Given the description of an element on the screen output the (x, y) to click on. 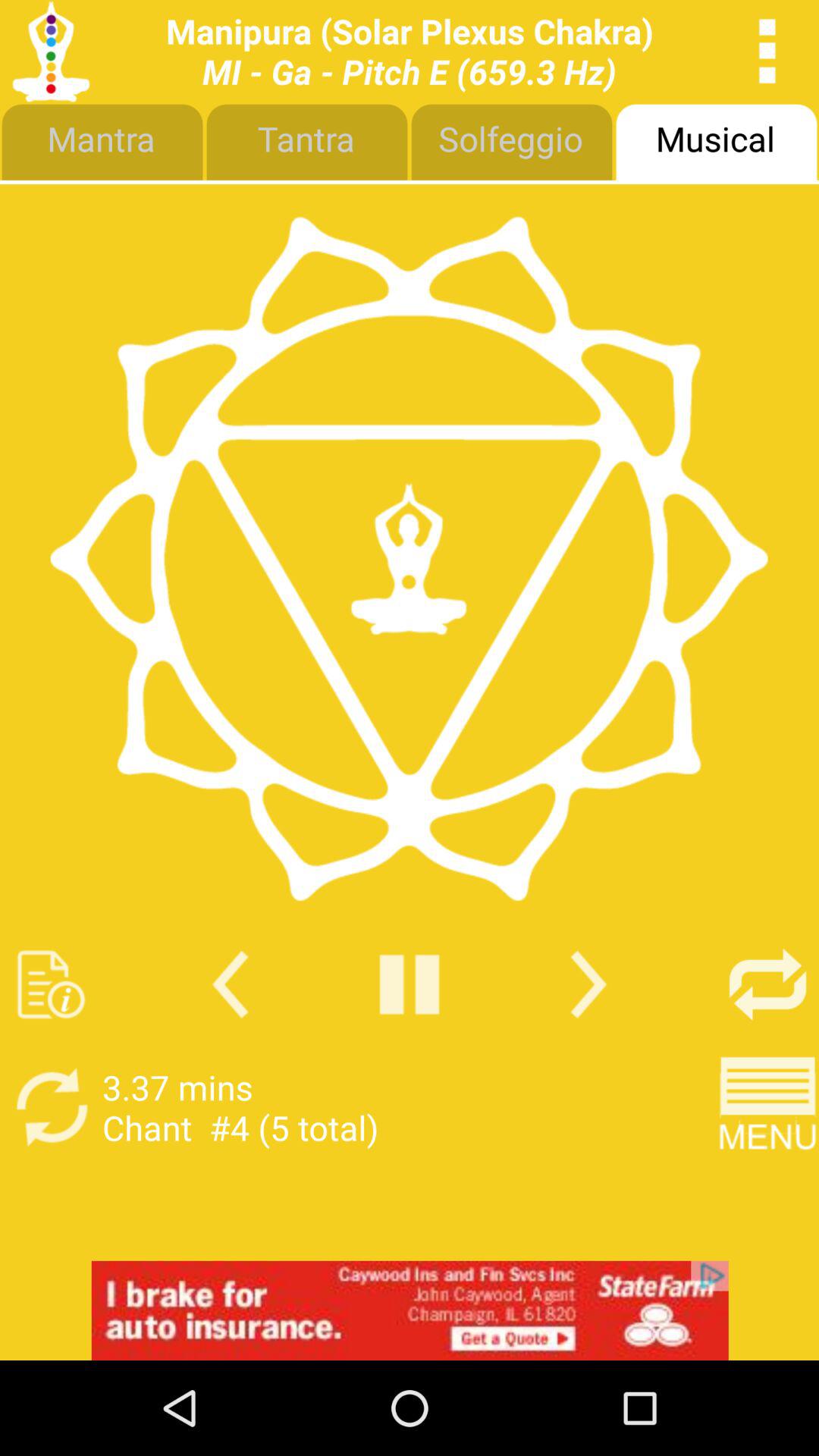
toggle on and off repeat (767, 984)
